Given the description of an element on the screen output the (x, y) to click on. 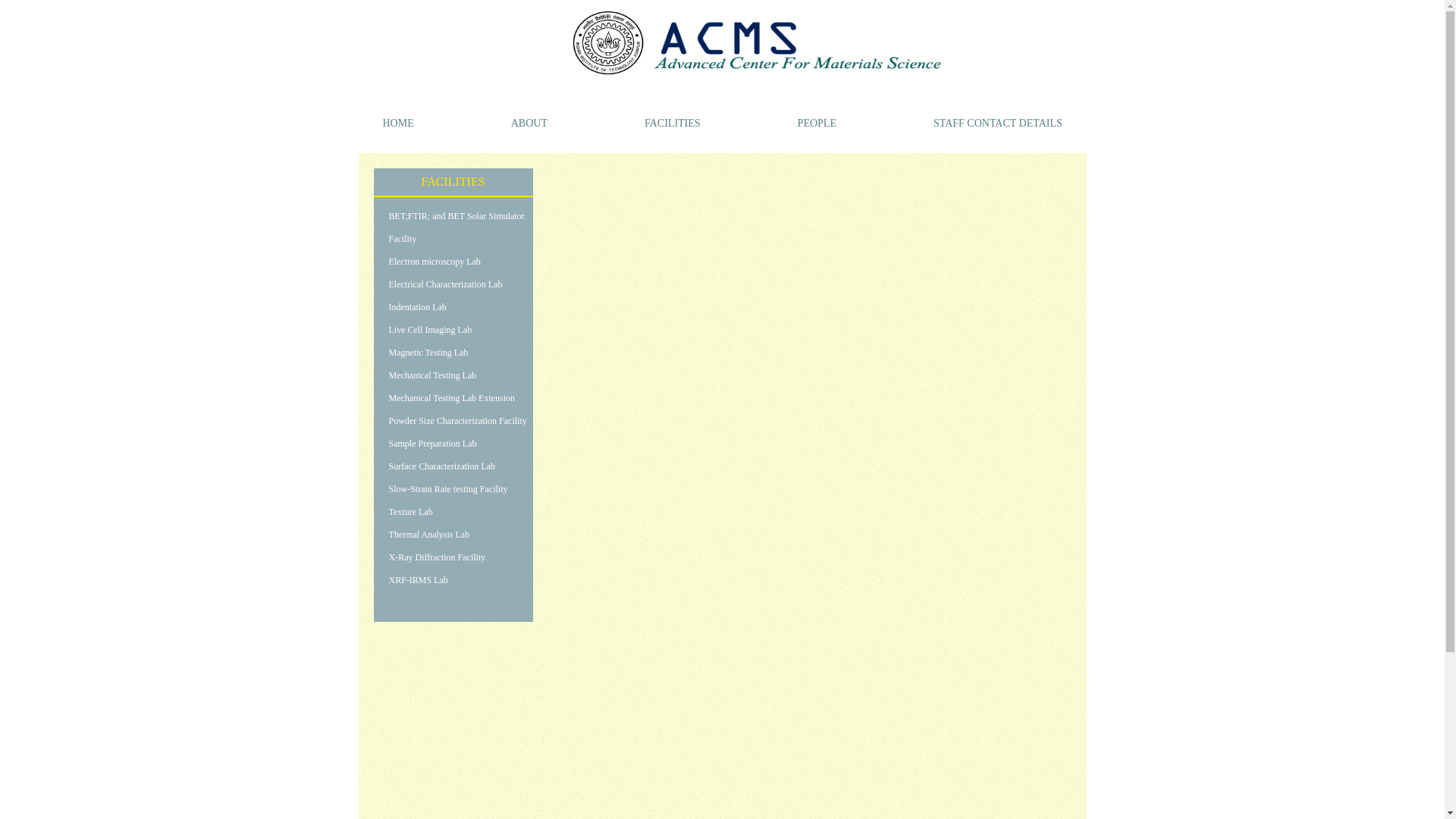
ABOUT (529, 122)
HOME (397, 122)
PEOPLE (816, 122)
FACILITIES (672, 122)
STAFF CONTACT DETAILS (997, 122)
